Given the description of an element on the screen output the (x, y) to click on. 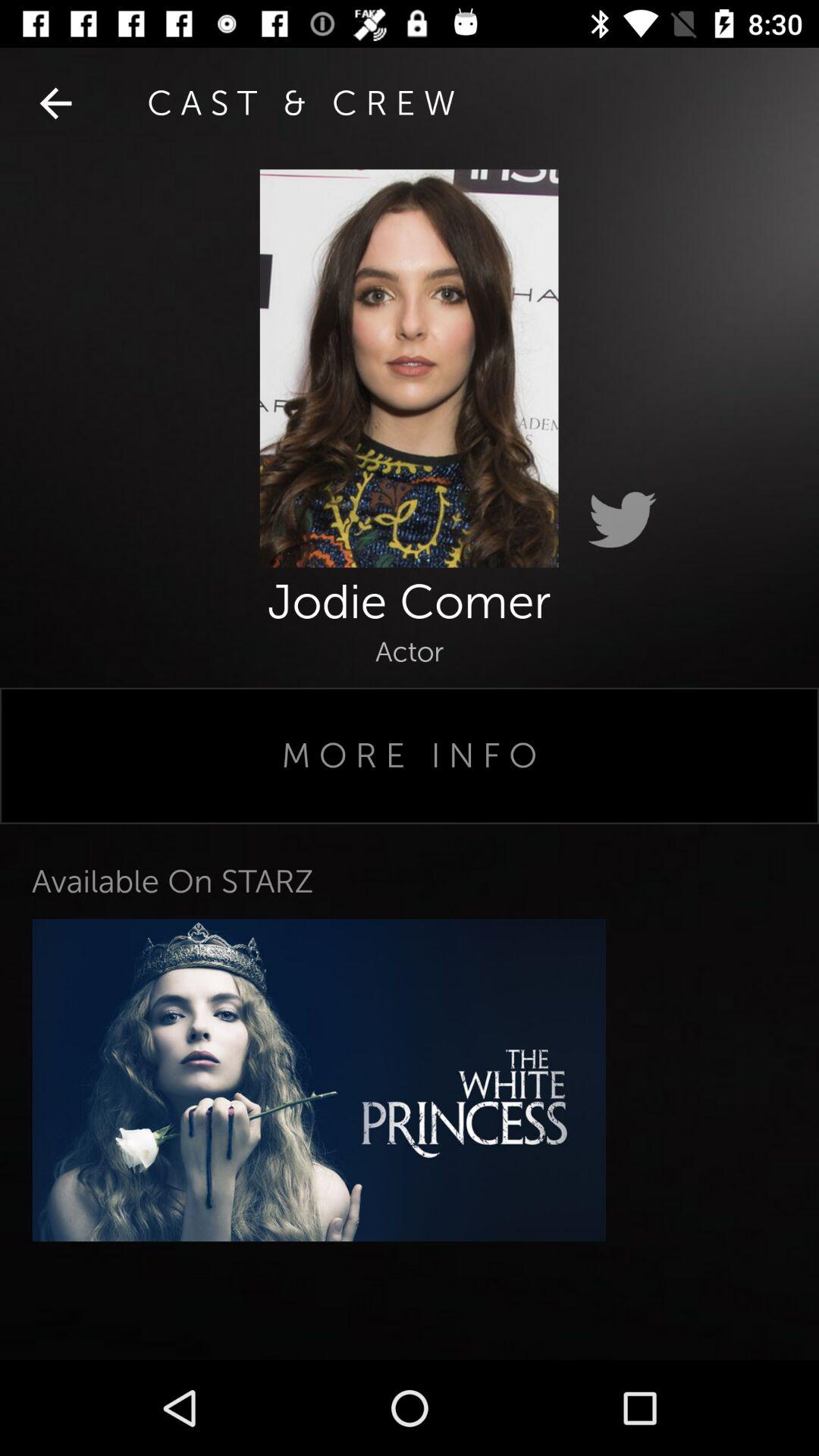
tap more info item (409, 755)
